Given the description of an element on the screen output the (x, y) to click on. 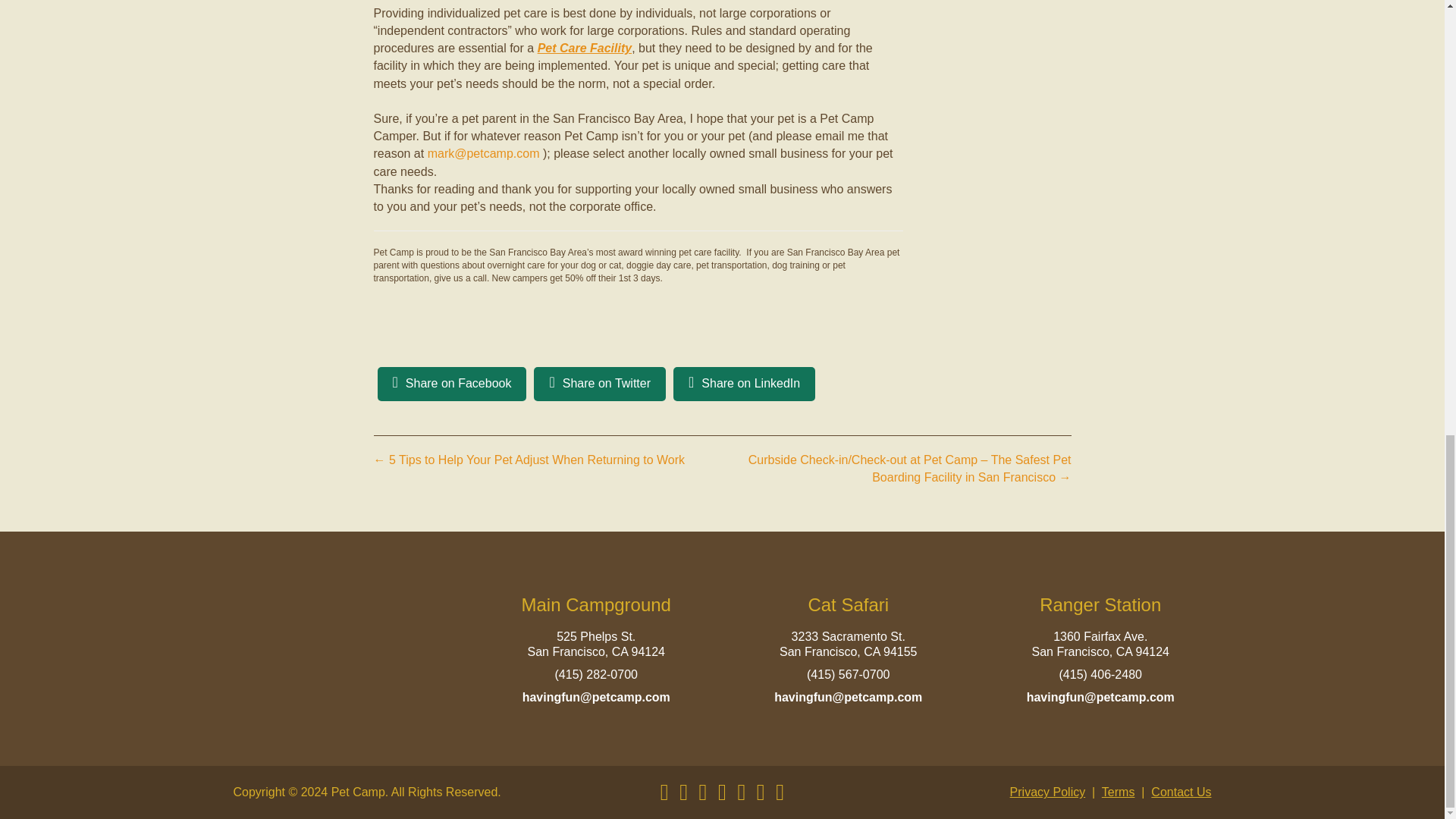
Main Campground (596, 604)
Cat Safari (848, 604)
footer-logo (343, 653)
Ranger Station (1099, 604)
